Given the description of an element on the screen output the (x, y) to click on. 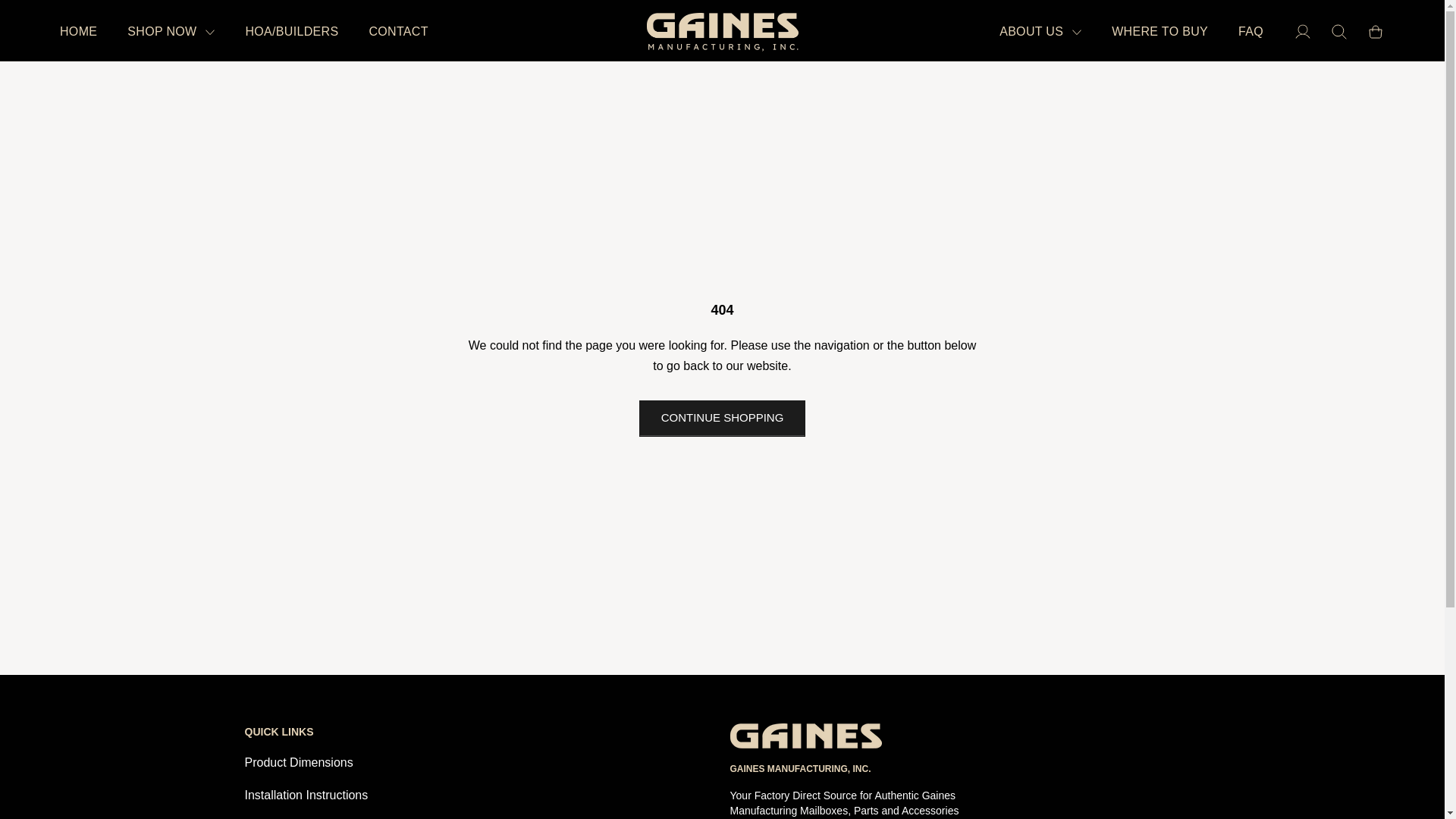
HOME (78, 31)
CONTINUE SHOPPING (722, 418)
Open account page (1302, 31)
Open cart (1375, 31)
CONTACT (398, 31)
Installation Instructions (306, 794)
Product Dimensions (298, 762)
Gaines Manufacturing Inc (721, 32)
FAQ (1251, 31)
Open search (1339, 31)
